Given the description of an element on the screen output the (x, y) to click on. 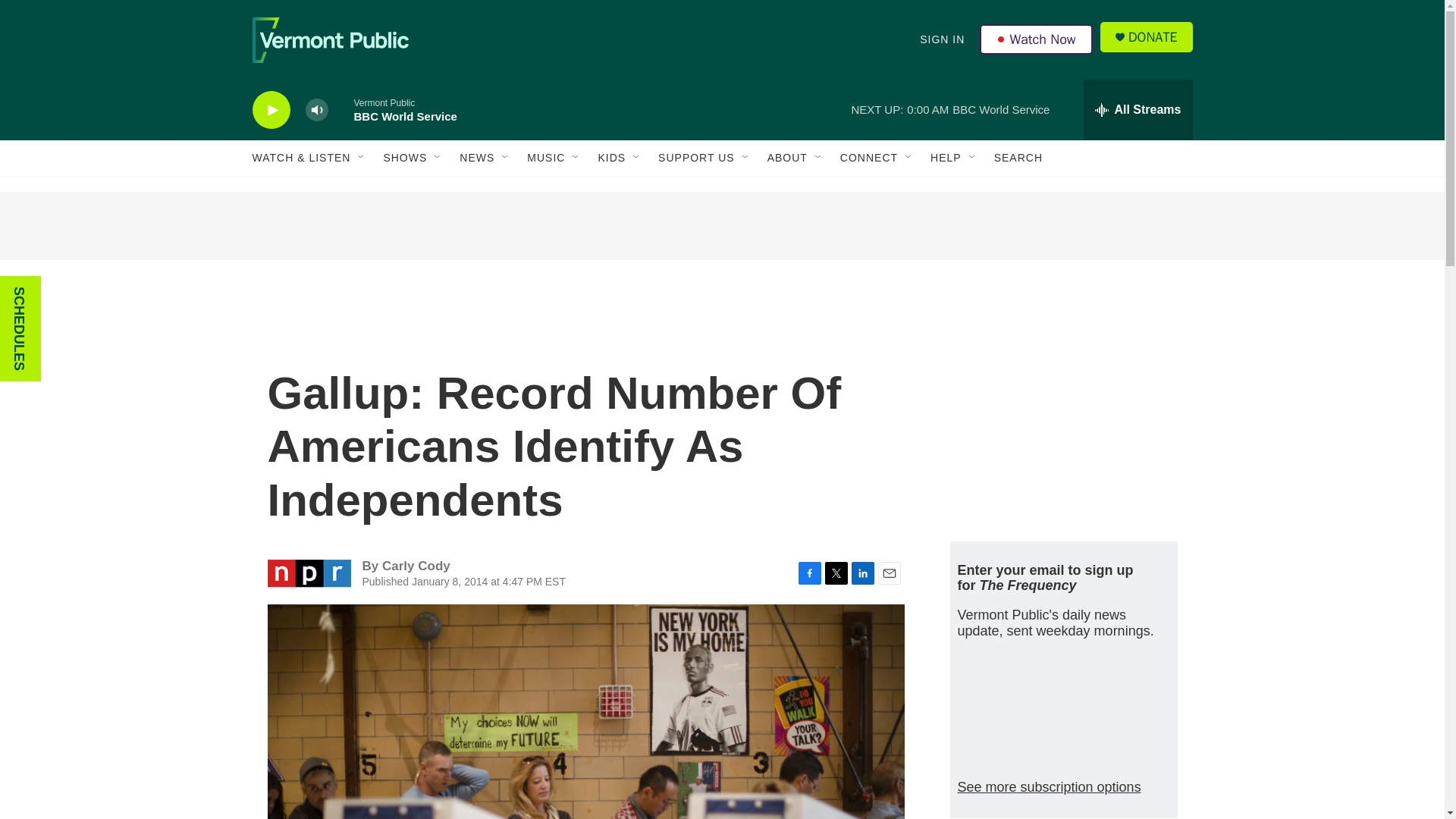
3rd party ad content (721, 225)
3rd party ad content (1062, 416)
